Given the description of an element on the screen output the (x, y) to click on. 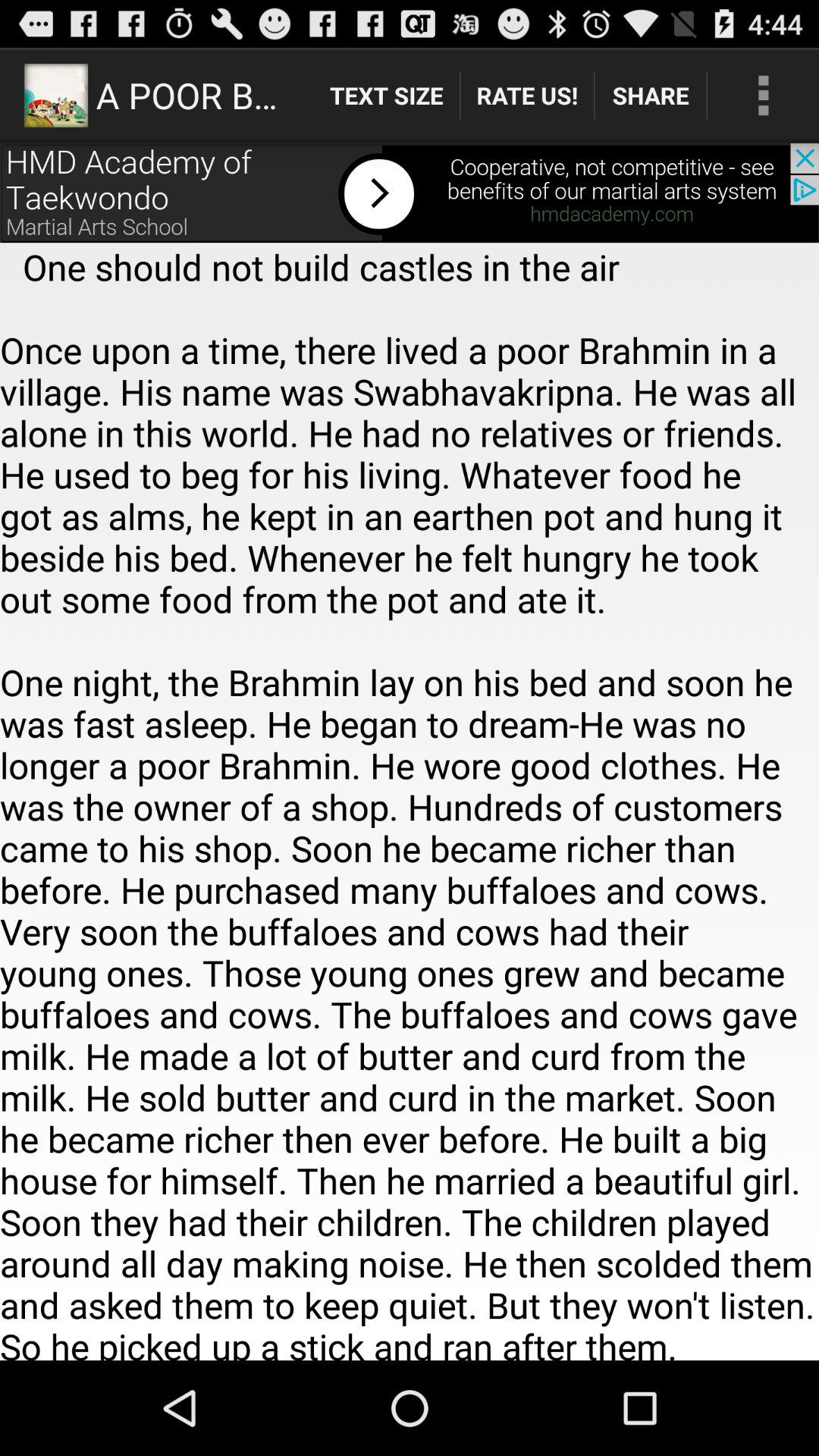
go to hmd academy of taekwondo (409, 192)
